Given the description of an element on the screen output the (x, y) to click on. 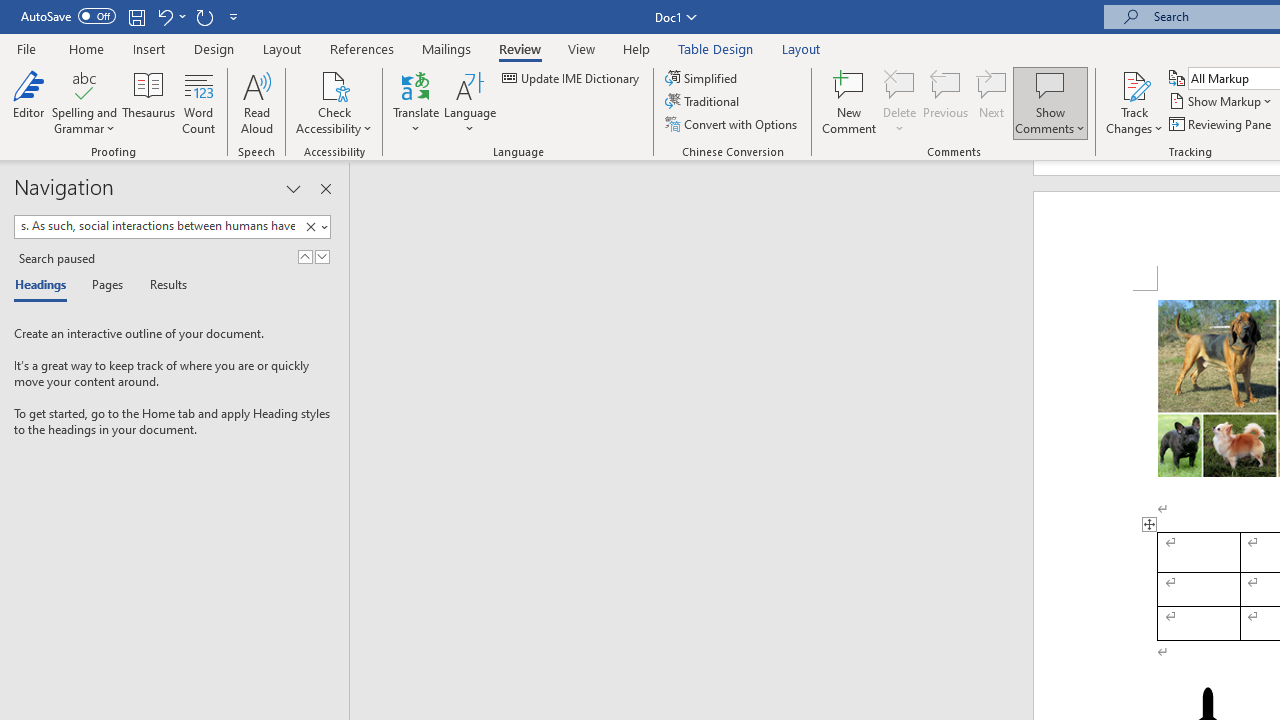
Traditional (703, 101)
Next (991, 102)
Check Accessibility (334, 84)
Thesaurus... (148, 102)
Clear (314, 227)
Delete (900, 102)
Translate (415, 102)
